Given the description of an element on the screen output the (x, y) to click on. 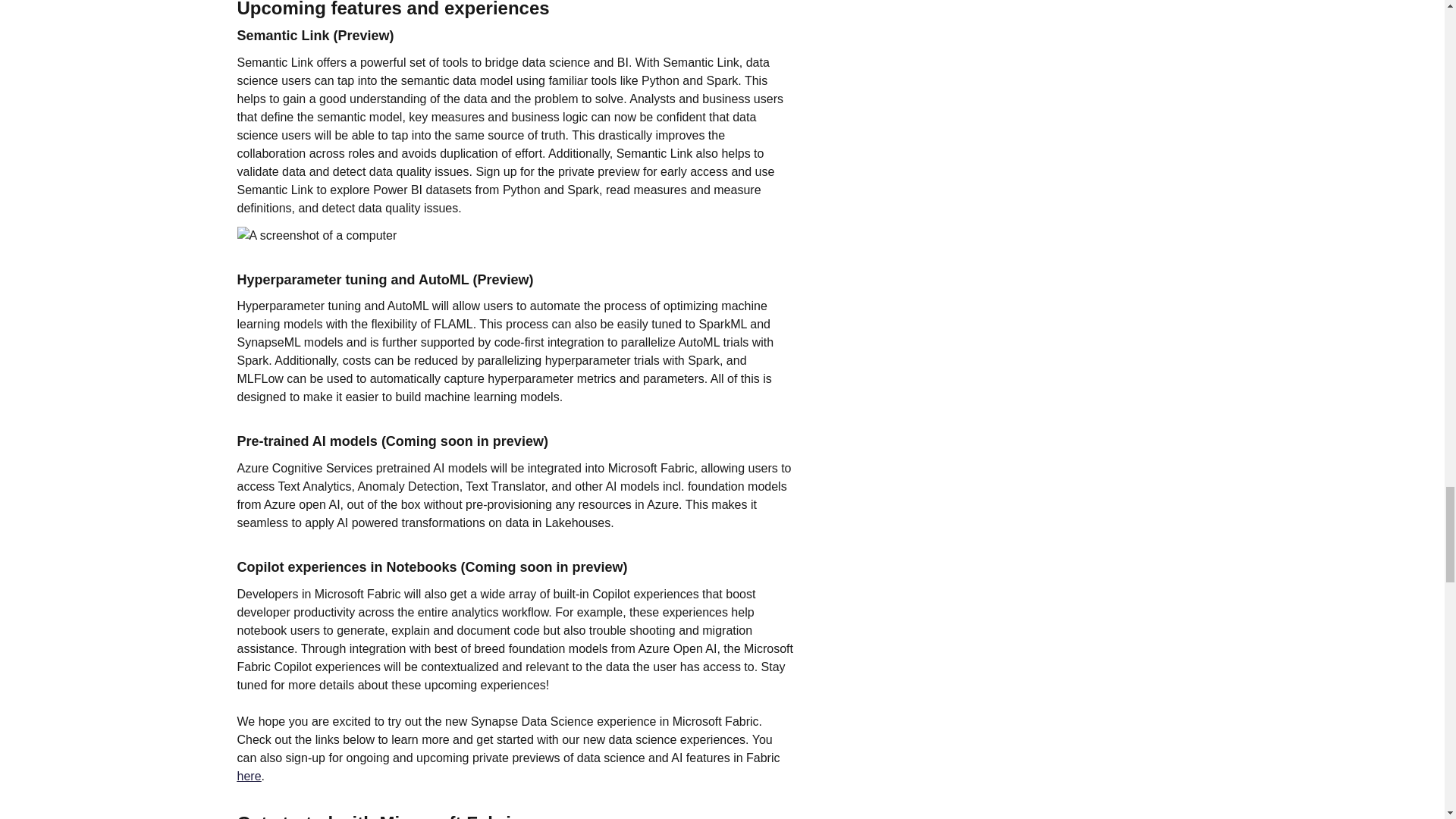
here (247, 775)
